Given the description of an element on the screen output the (x, y) to click on. 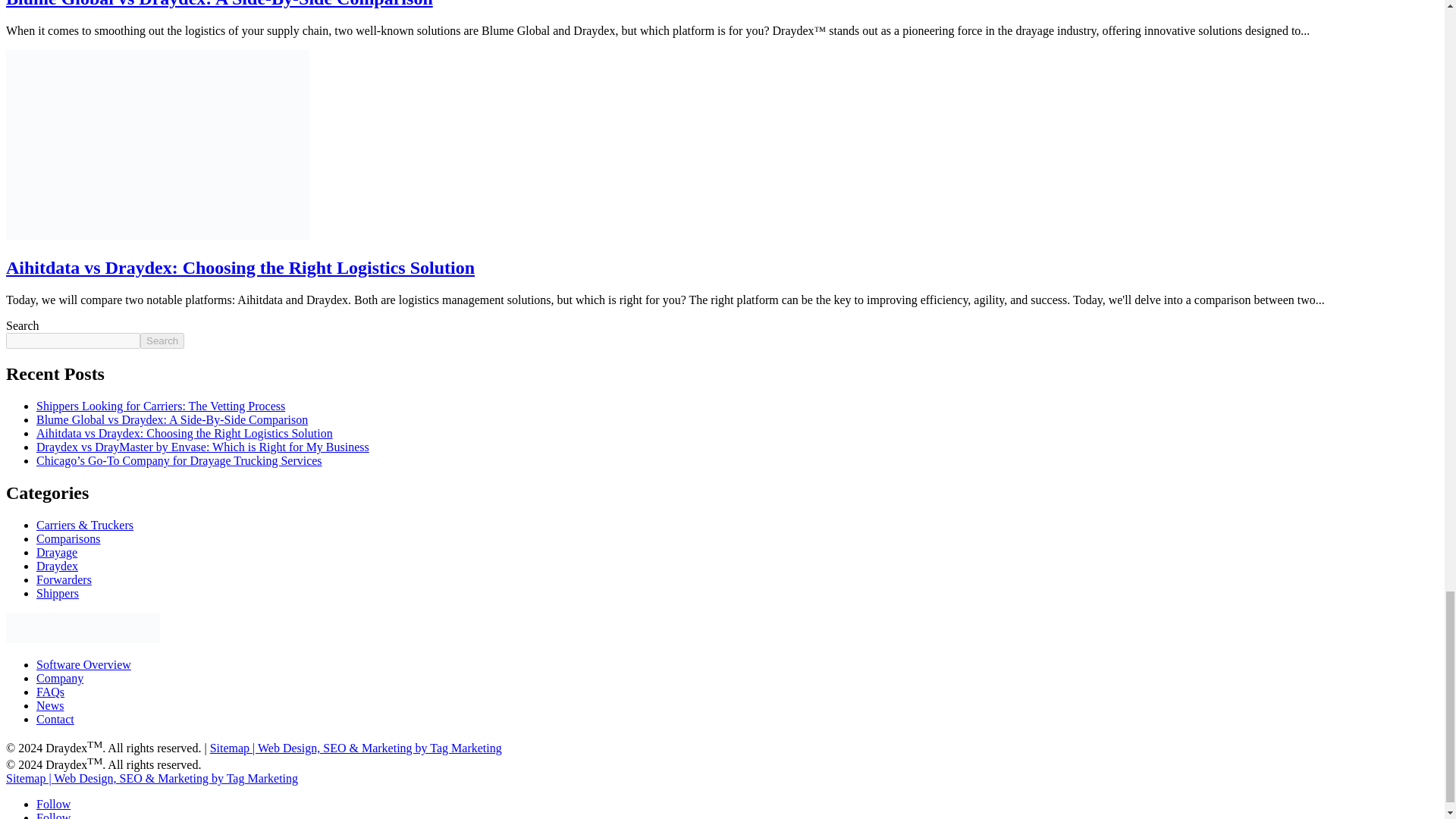
Search (161, 340)
Draydex Logistics Platform (82, 627)
Comparisons (68, 538)
Blume Global vs Draydex: A Side-By-Side Comparison (171, 419)
Company (59, 677)
Software Overview (83, 664)
Draydex (57, 565)
Drayage (56, 552)
Aihitdata vs Draydex: Choosing the Right Logistics Solution (239, 267)
Forwarders (63, 579)
